Given the description of an element on the screen output the (x, y) to click on. 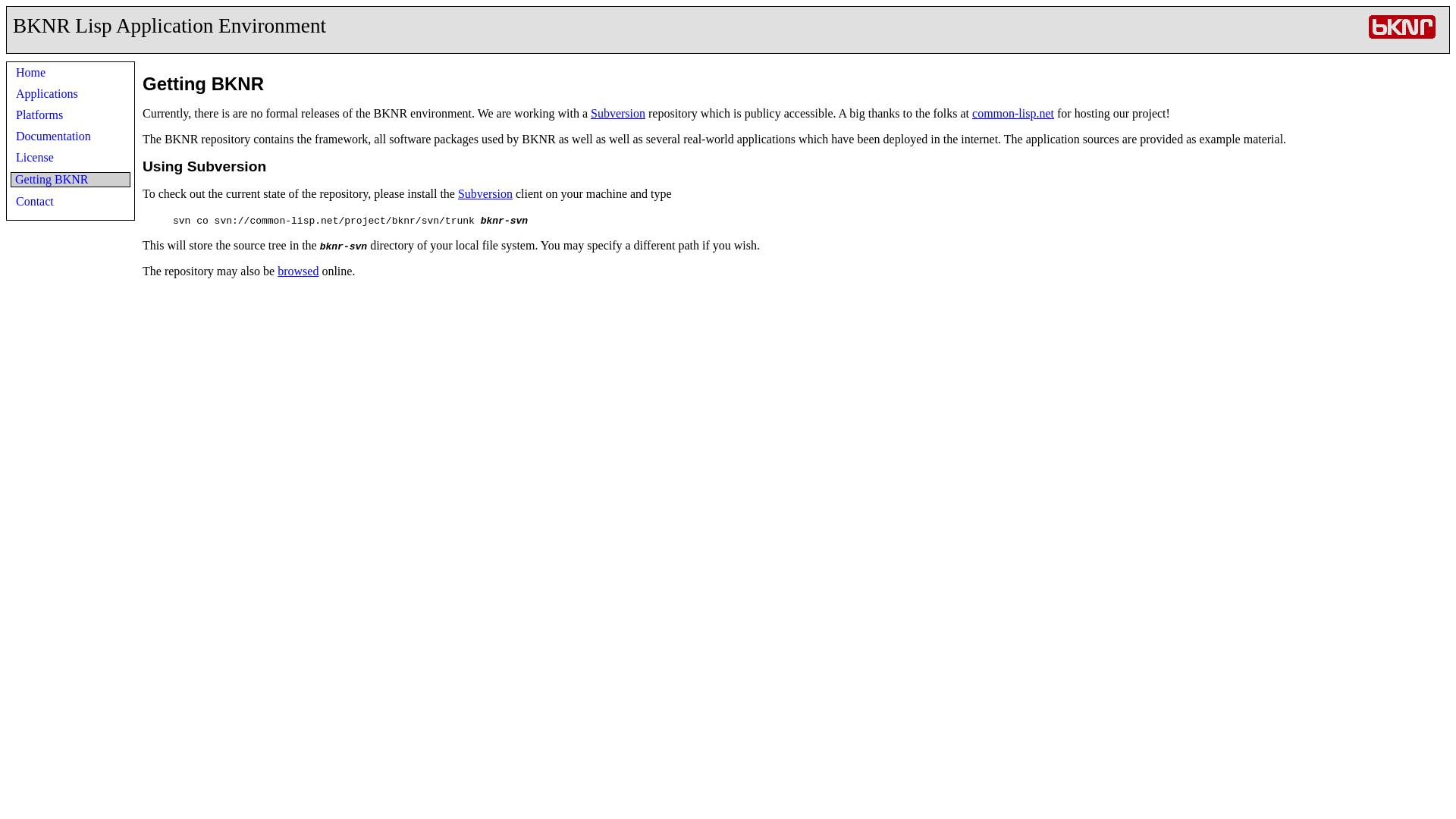
Contact (34, 201)
Home (30, 72)
Applications (47, 92)
common-lisp.net (1013, 113)
Platforms (39, 114)
Subversion (485, 193)
browsed (298, 270)
Documentation (53, 135)
License (34, 156)
Subversion (618, 113)
